Given the description of an element on the screen output the (x, y) to click on. 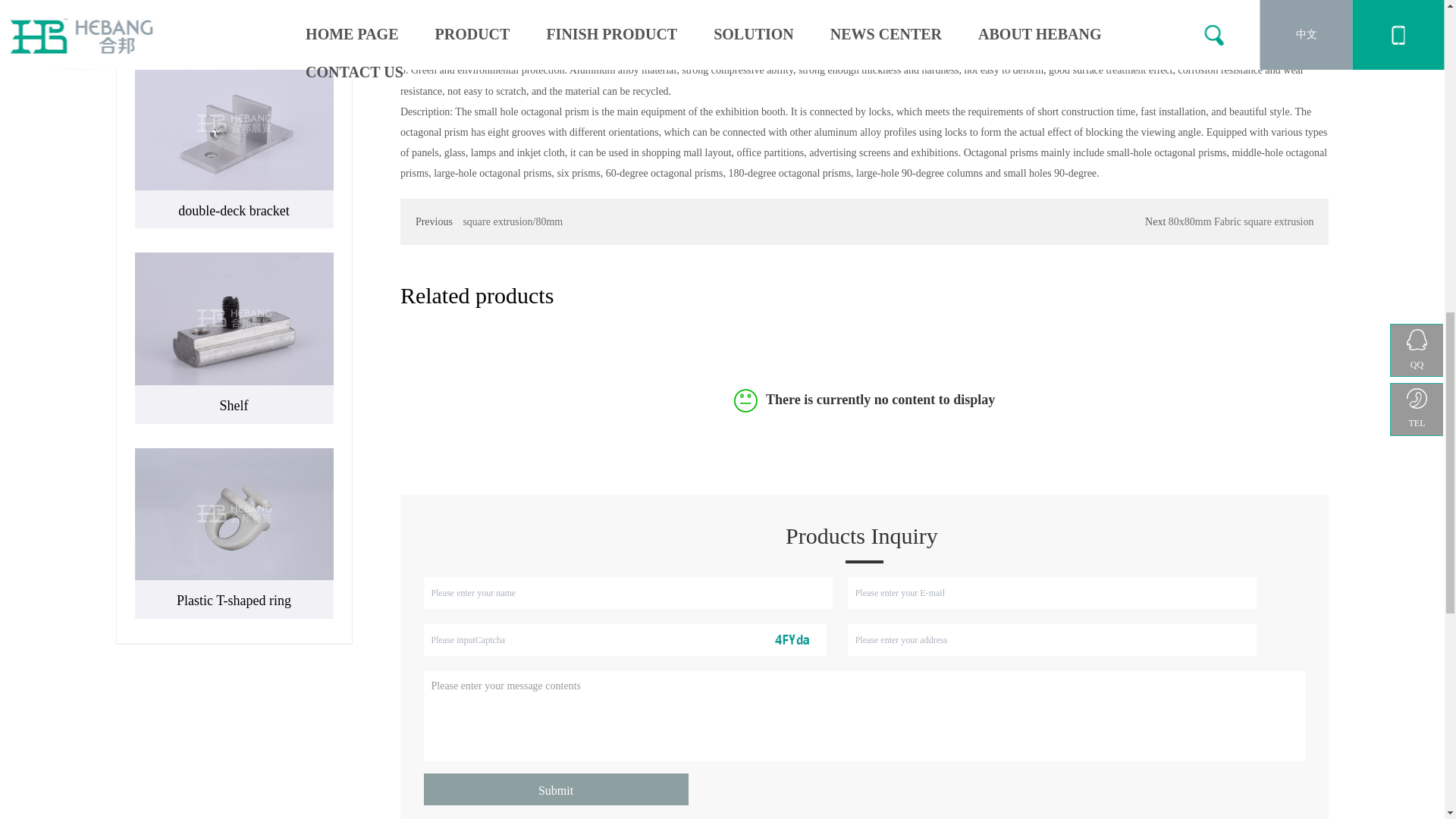
Shelf (234, 318)
double-deck bracket (234, 123)
Plastic T-shaped ring (234, 513)
